Given the description of an element on the screen output the (x, y) to click on. 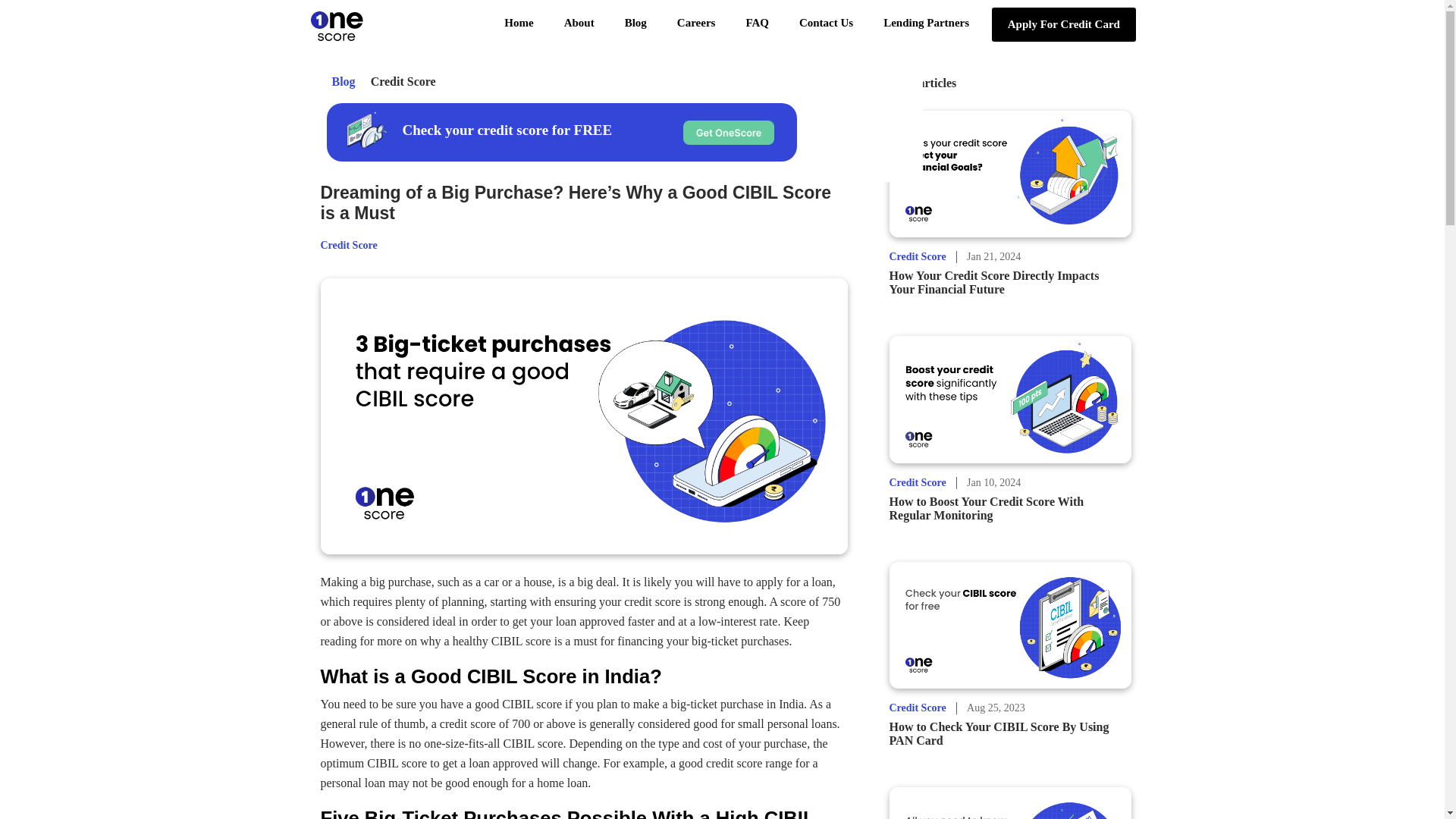
Blog (344, 81)
Home (518, 22)
Careers (696, 22)
About (579, 22)
Lending Partners (925, 22)
Check your credit score for FREE (506, 131)
How Your Credit Score Directly Impacts Your Financial Future (993, 282)
Apply For Credit Card (1063, 24)
FAQ (757, 22)
Blog (636, 22)
How to Boost Your Credit Score With Regular Monitoring (985, 508)
How to Check Your CIBIL Score By Using PAN Card (998, 733)
Contact Us (825, 22)
